Given the description of an element on the screen output the (x, y) to click on. 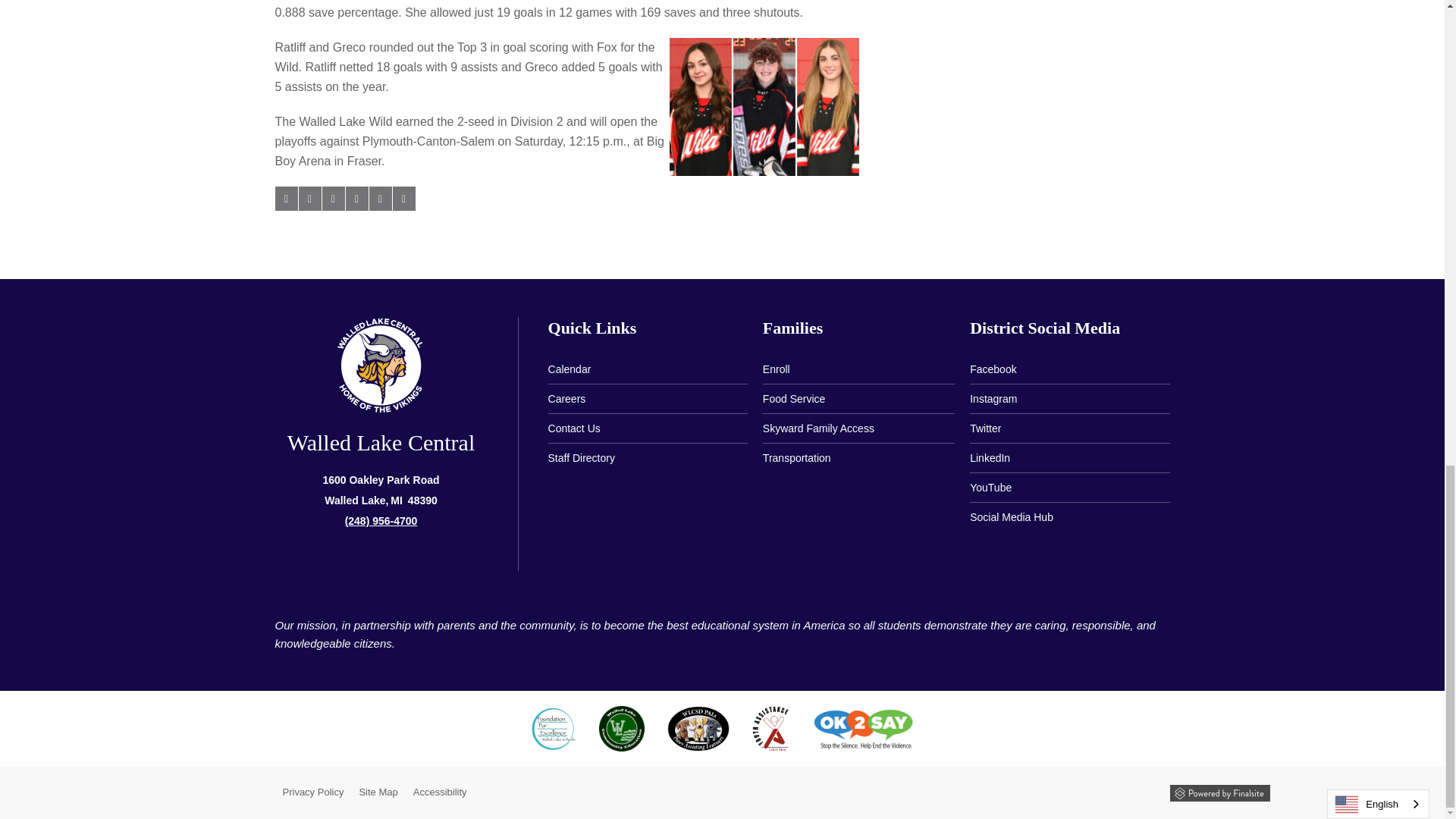
Share to Pinterest (357, 198)
Print this page (403, 198)
Powered by Finalsite opens in a new window (1219, 790)
Share to Facebook (286, 198)
Share to LinkedIn (332, 198)
Share to Twitter (309, 198)
Share to Email (379, 198)
